Given the description of an element on the screen output the (x, y) to click on. 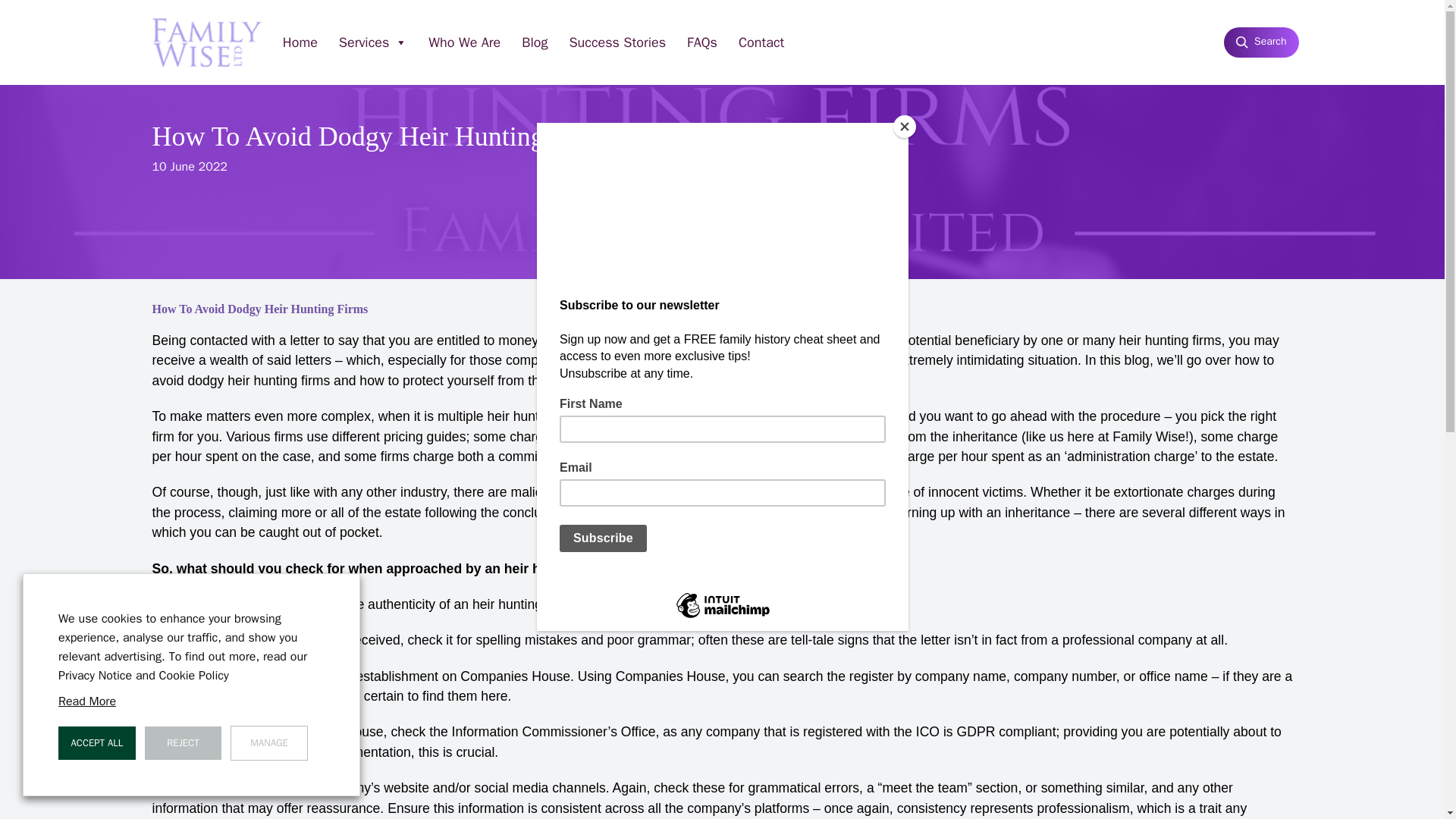
MANAGE (268, 742)
Contact (761, 42)
Services (374, 42)
ACCEPT ALL (96, 743)
Companies House (515, 676)
Home (300, 42)
Who We Are (464, 42)
Success Stories (617, 42)
Read More (87, 701)
REJECT (183, 743)
